Given the description of an element on the screen output the (x, y) to click on. 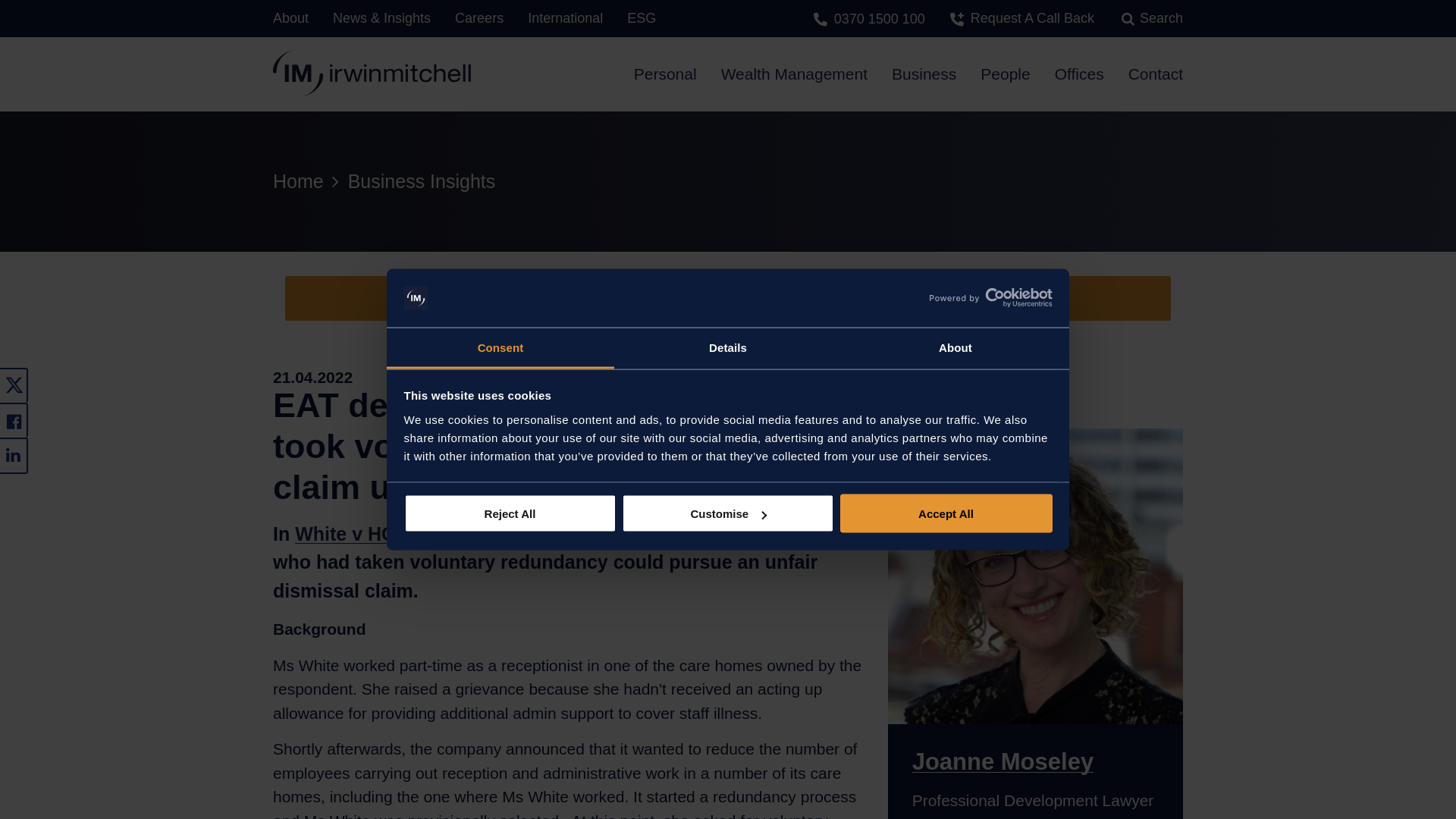
About (954, 347)
Consent (500, 347)
Details (727, 347)
